Given the description of an element on the screen output the (x, y) to click on. 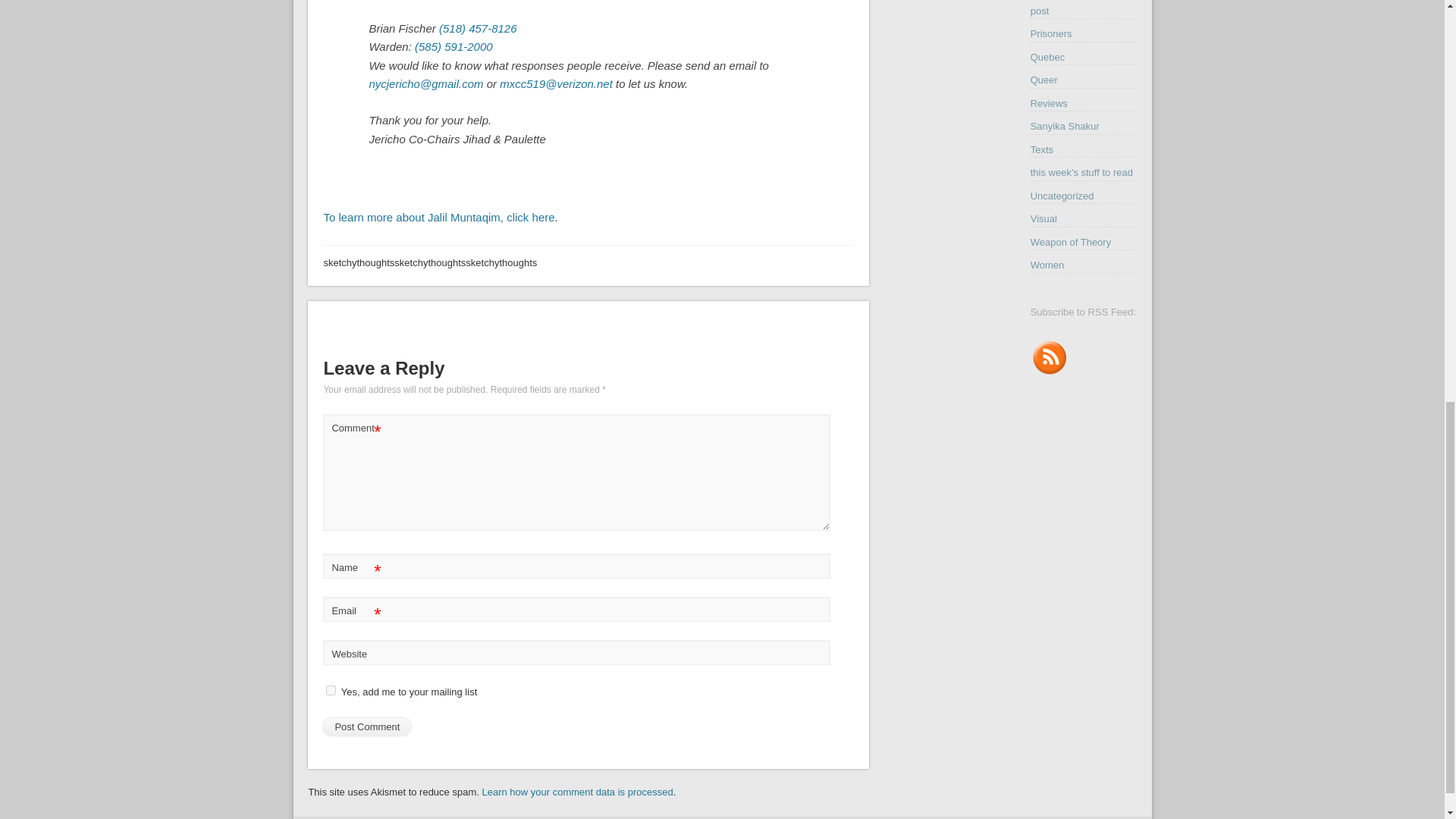
1 (331, 690)
Post Comment (366, 726)
RSS 2.0 Feed (1049, 372)
